Given the description of an element on the screen output the (x, y) to click on. 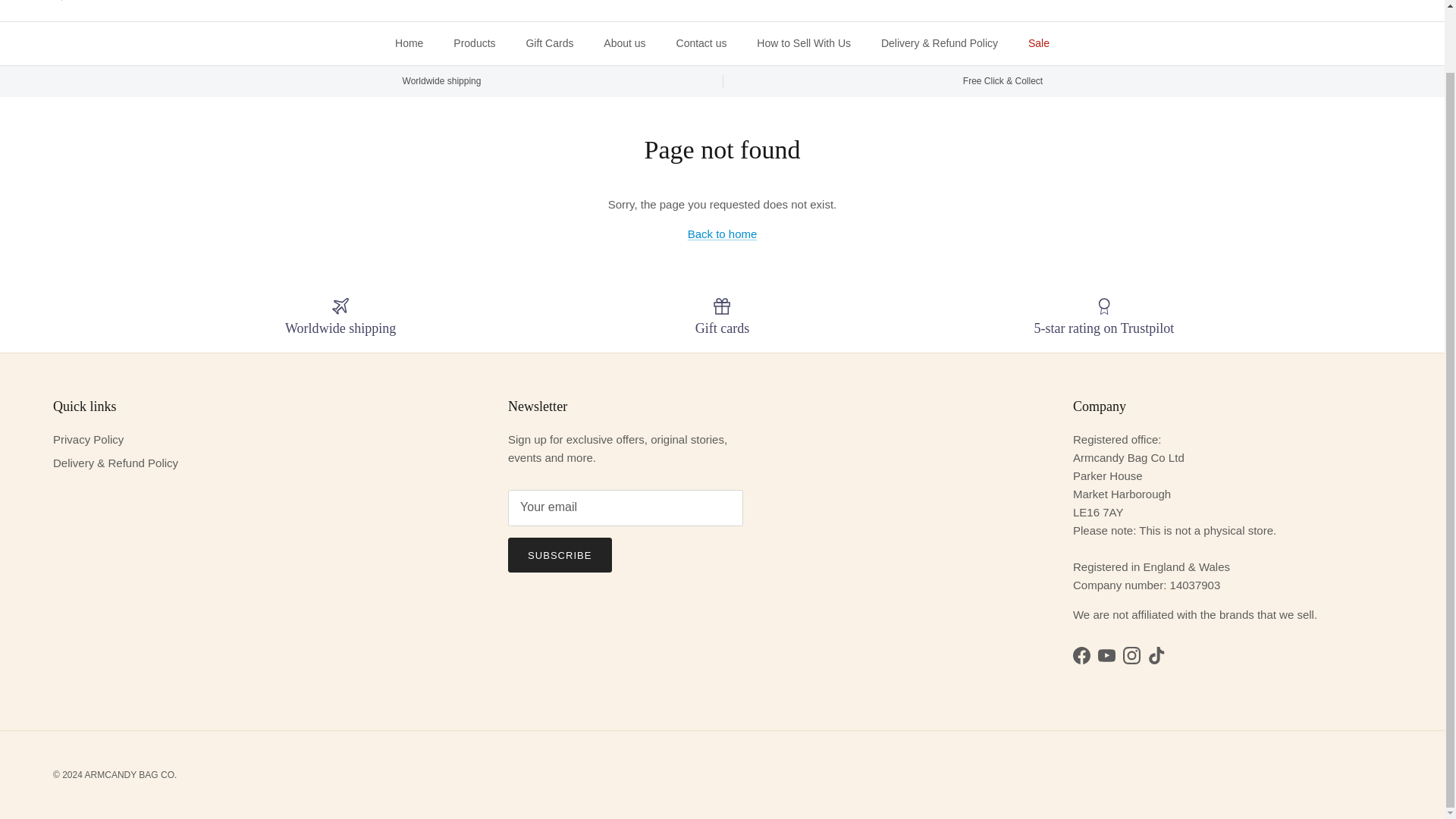
Sale (1038, 43)
ARMCANDY BAG CO (722, 2)
Contact us (701, 43)
Gift Cards (549, 43)
Home (408, 43)
Products (473, 43)
How to Sell With Us (803, 43)
ARMCANDY BAG CO on YouTube (1106, 655)
ARMCANDY BAG CO (722, 2)
ARMCANDY BAG CO on TikTok (1157, 655)
Cart (1377, 1)
ARMCANDY BAG CO on Facebook (1081, 655)
Search (72, 0)
ARMCANDY BAG CO on Instagram (1131, 655)
About us (624, 43)
